Given the description of an element on the screen output the (x, y) to click on. 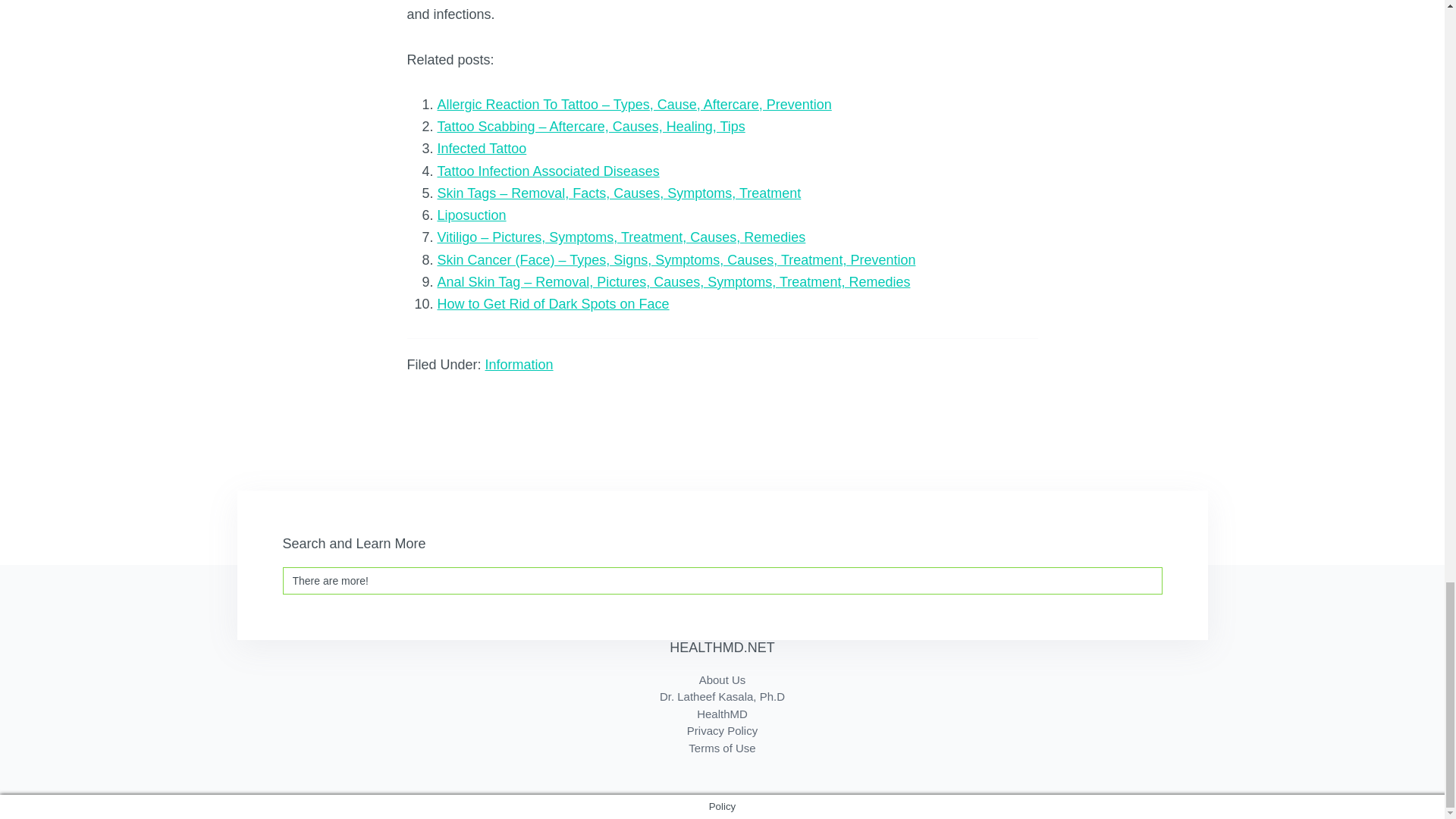
Tattoo Infection Associated Diseases (547, 171)
Dr. Latheef Kasala, Ph.D (721, 696)
Infected Tattoo (480, 148)
Terms of Use (721, 748)
Tattoo Infection Associated Diseases (547, 171)
Information (518, 364)
HealthMD (722, 713)
How to Get Rid of Dark Spots on Face (552, 304)
How to Get Rid of Dark Spots on Face (552, 304)
Infected Tattoo (480, 148)
Privacy Policy (722, 730)
Liposuction (470, 215)
